Given the description of an element on the screen output the (x, y) to click on. 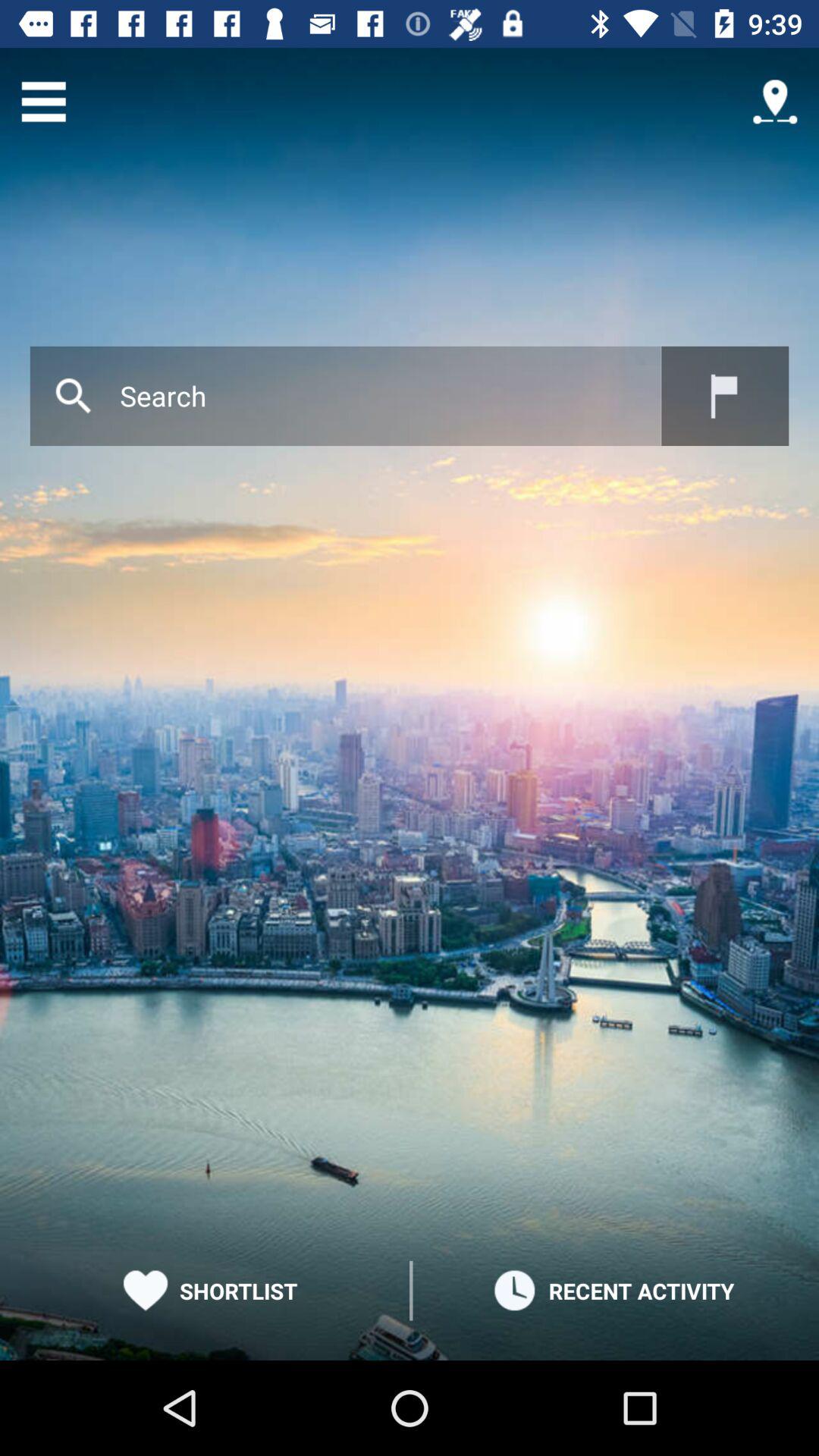
open menu (43, 101)
